Given the description of an element on the screen output the (x, y) to click on. 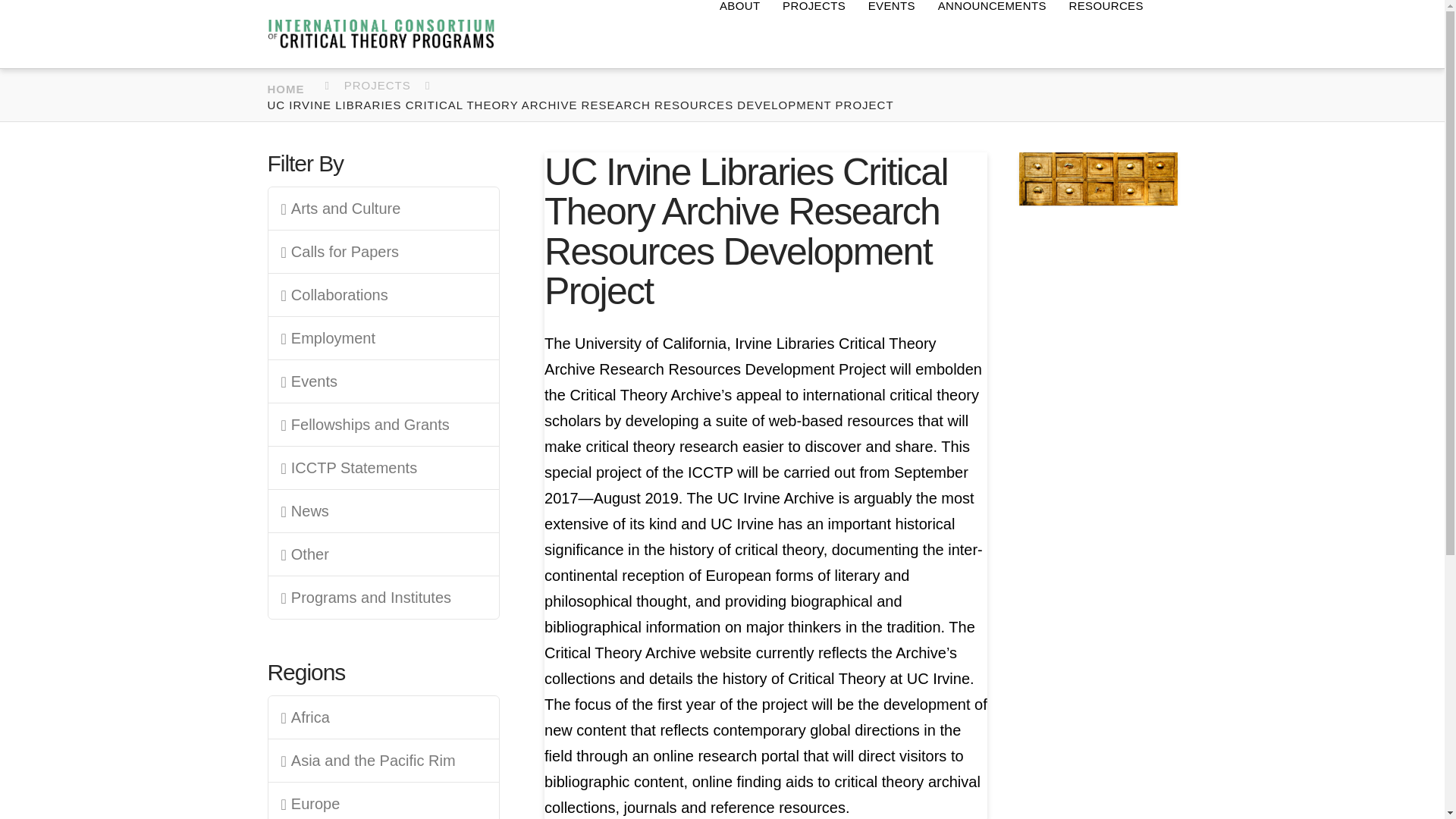
Arts and Culture (383, 208)
PROJECTS (379, 84)
PROJECTS (814, 33)
EVENTS (891, 33)
ANNOUNCEMENTS (992, 33)
HOME (290, 86)
RESOURCES (1105, 33)
ABOUT (739, 33)
You Are Here (582, 105)
